Given the description of an element on the screen output the (x, y) to click on. 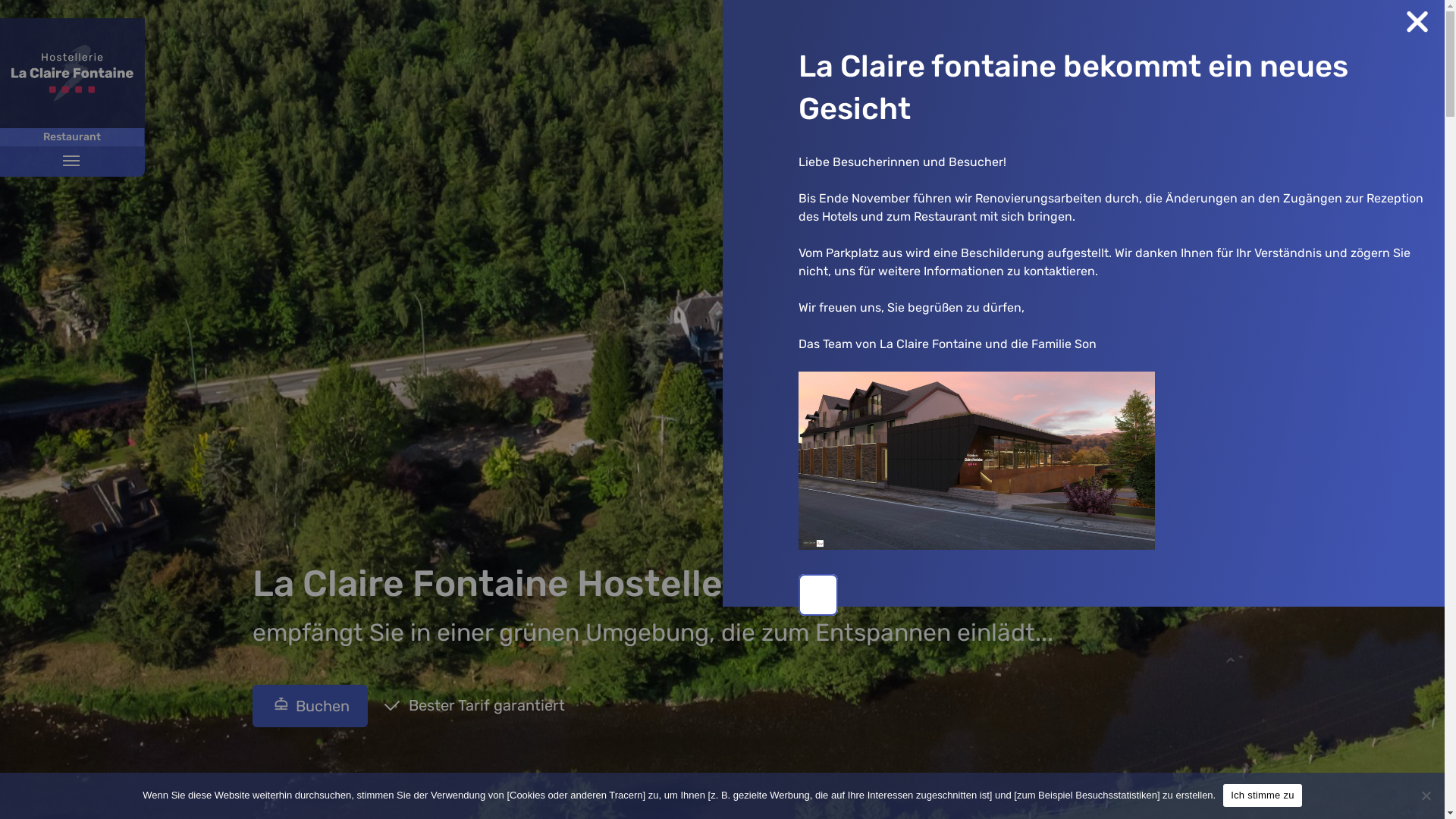
No Element type: hover (1425, 795)
Buchen Element type: text (309, 705)
Restaurant Element type: text (72, 137)
Info Travaux Element type: text (1378, 786)
Ich stimme zu Element type: text (1262, 795)
